Given the description of an element on the screen output the (x, y) to click on. 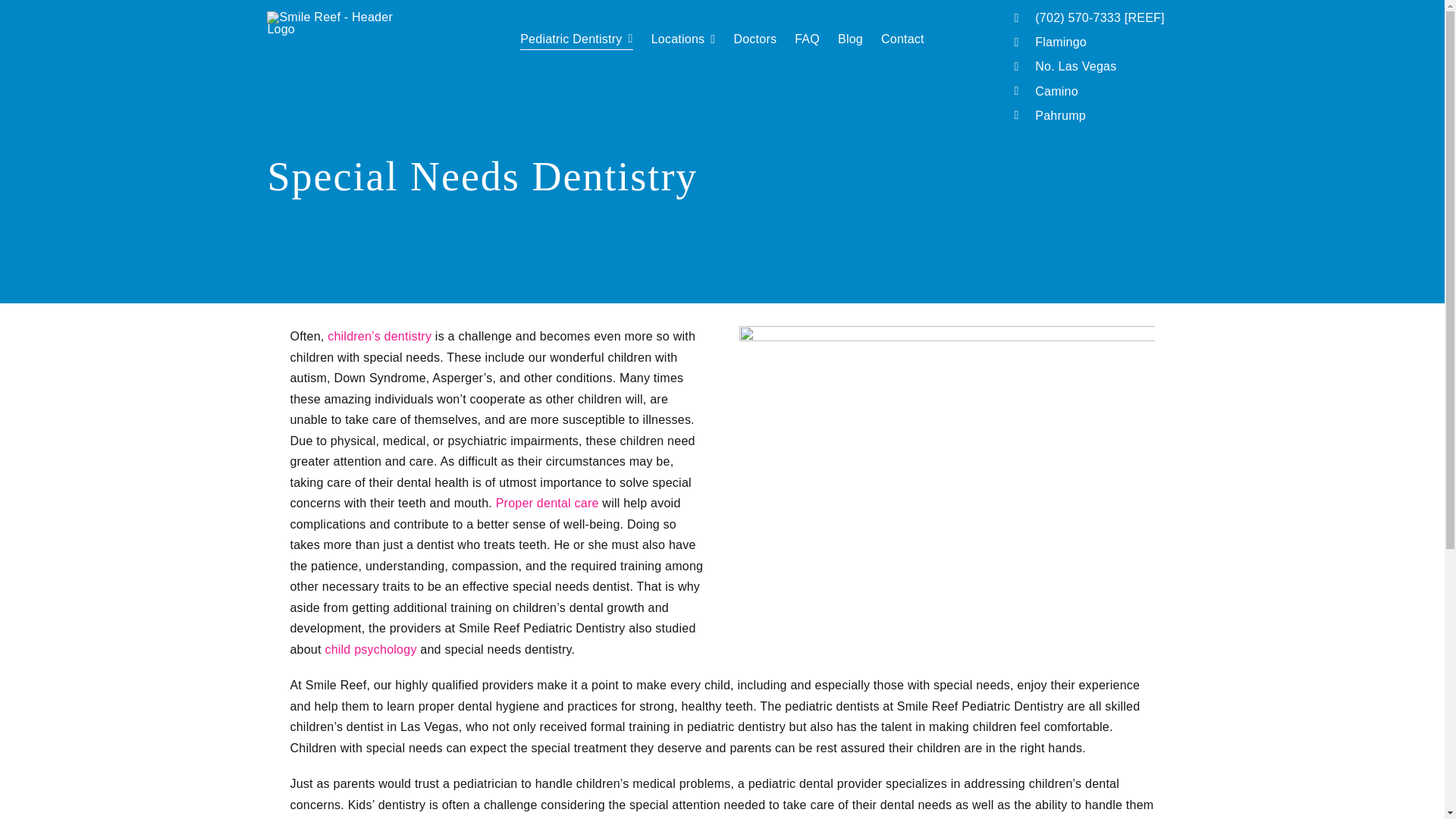
child psychology (370, 649)
Blog (850, 38)
Flamingo (1060, 42)
Pediatric Dentistry (575, 39)
No. Las Vegas (1075, 65)
Children's Dentistry (378, 336)
FAQ (806, 38)
Contact (902, 38)
Dental Care (547, 502)
Doctors (754, 38)
